Given the description of an element on the screen output the (x, y) to click on. 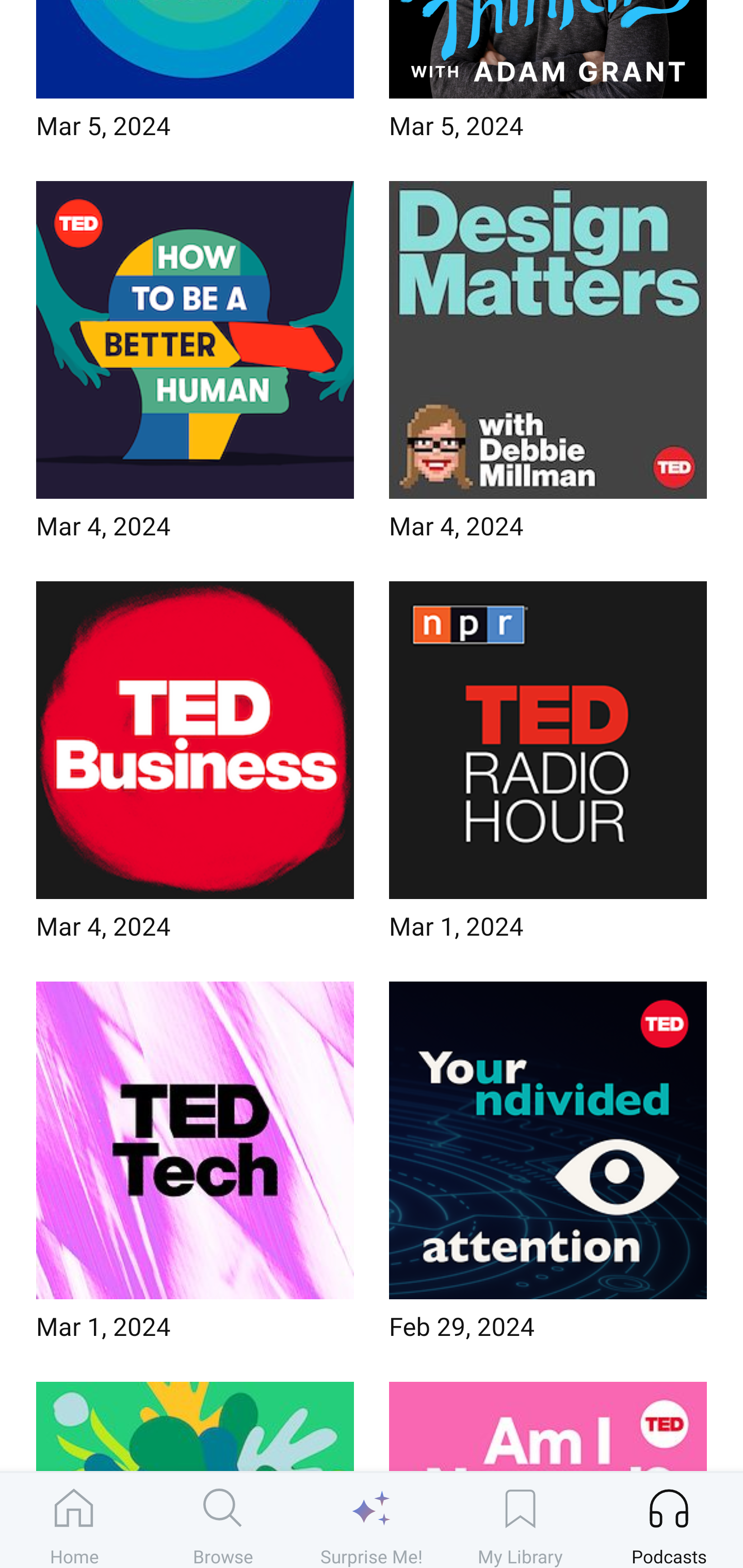
Mar 4, 2024 (194, 365)
Mar 4, 2024 (547, 365)
Mar 4, 2024 (194, 767)
Mar 1, 2024 (547, 767)
Mar 1, 2024 (194, 1167)
Feb 29, 2024 (547, 1167)
Home (74, 1520)
Browse (222, 1520)
Surprise Me! (371, 1520)
My Library (519, 1520)
Podcasts (668, 1520)
